Given the description of an element on the screen output the (x, y) to click on. 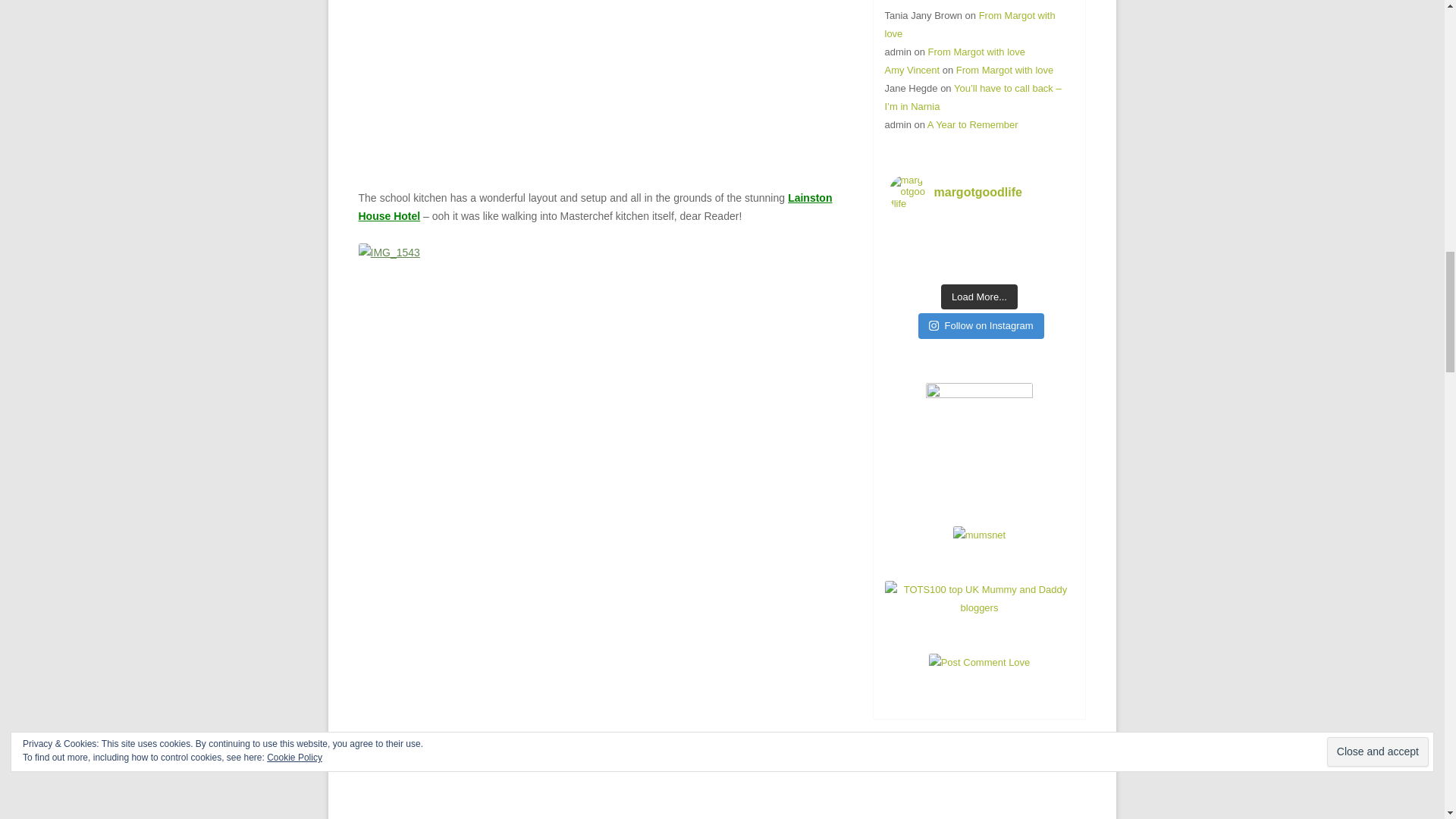
Post Comment Love (979, 662)
Lainston House Hotel (594, 206)
Tots100 (978, 607)
